Given the description of an element on the screen output the (x, y) to click on. 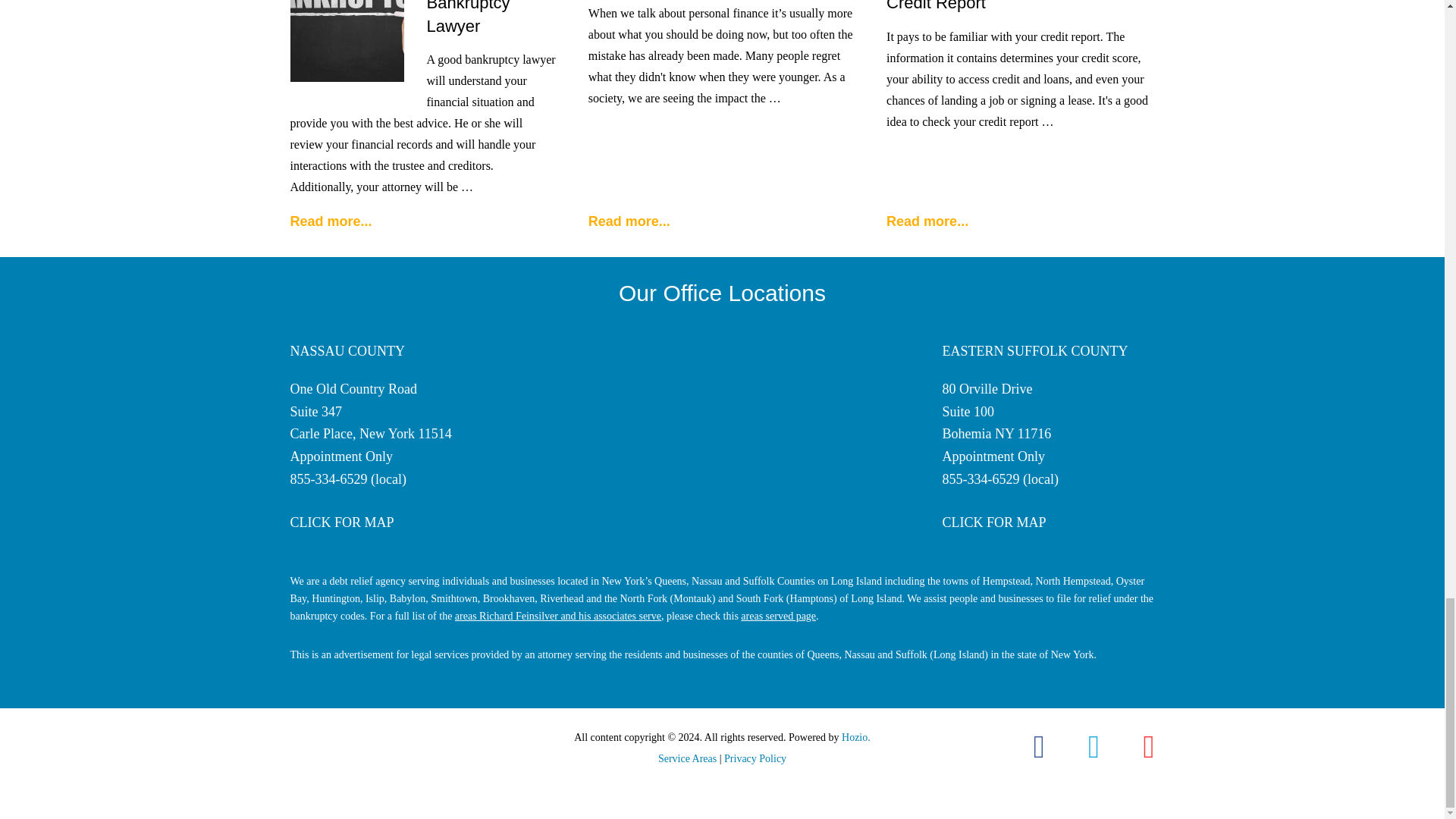
CLICK FOR MAP (993, 522)
areas served page (778, 615)
It Pays To Be Familiar With Your Credit Report (1005, 6)
Privacy Policy (754, 758)
Read more... (628, 221)
855-334-6529 (327, 478)
855-334-6529 (980, 478)
CLICK FOR MAP (341, 522)
Read more... (927, 221)
Read more... (330, 221)
